Given the description of an element on the screen output the (x, y) to click on. 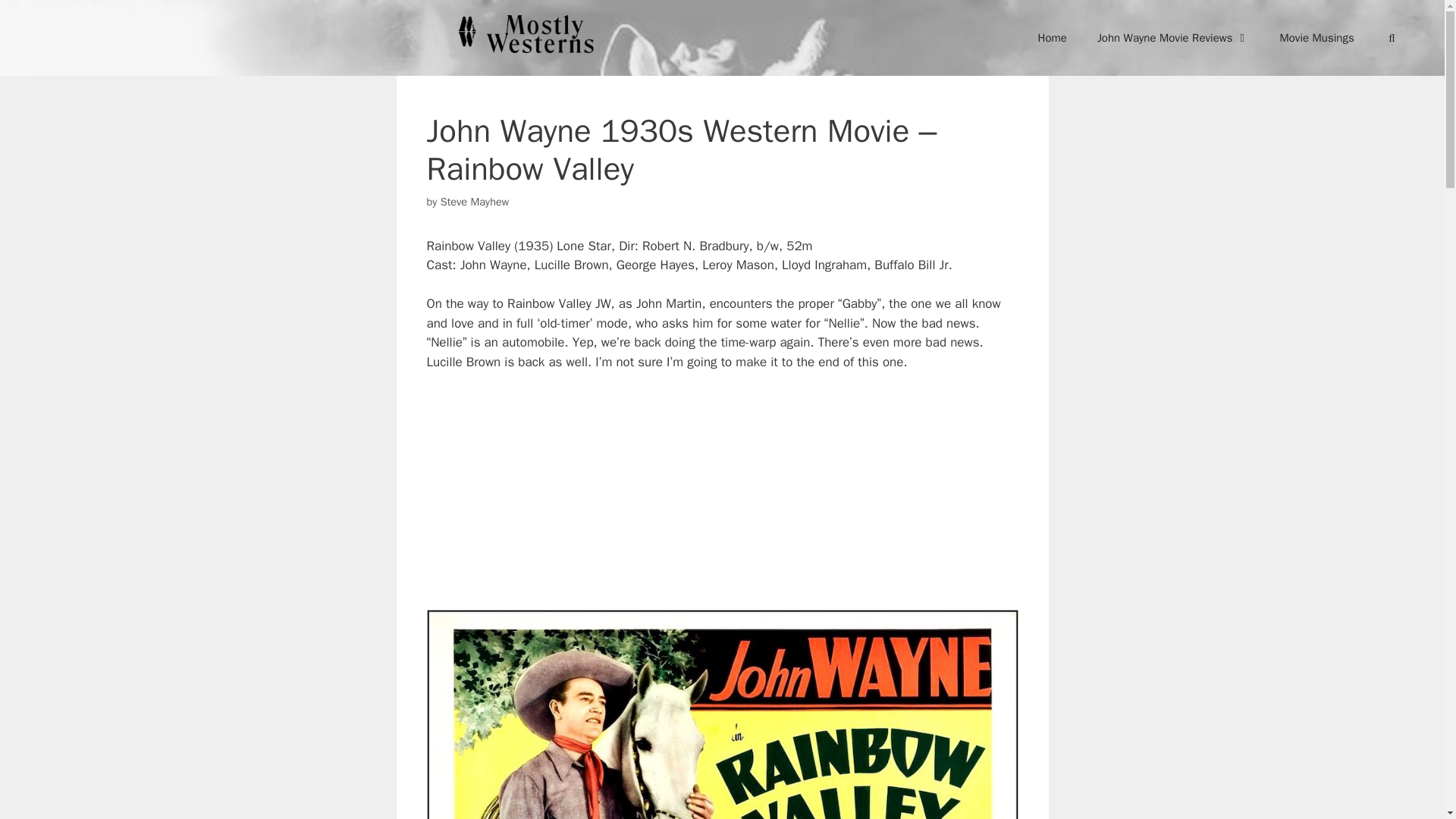
Home (1052, 37)
View all posts by Steve Mayhew (475, 201)
Steve Mayhew (475, 201)
Movie Musings (1315, 37)
John Wayne Movie Reviews (1173, 37)
